Given the description of an element on the screen output the (x, y) to click on. 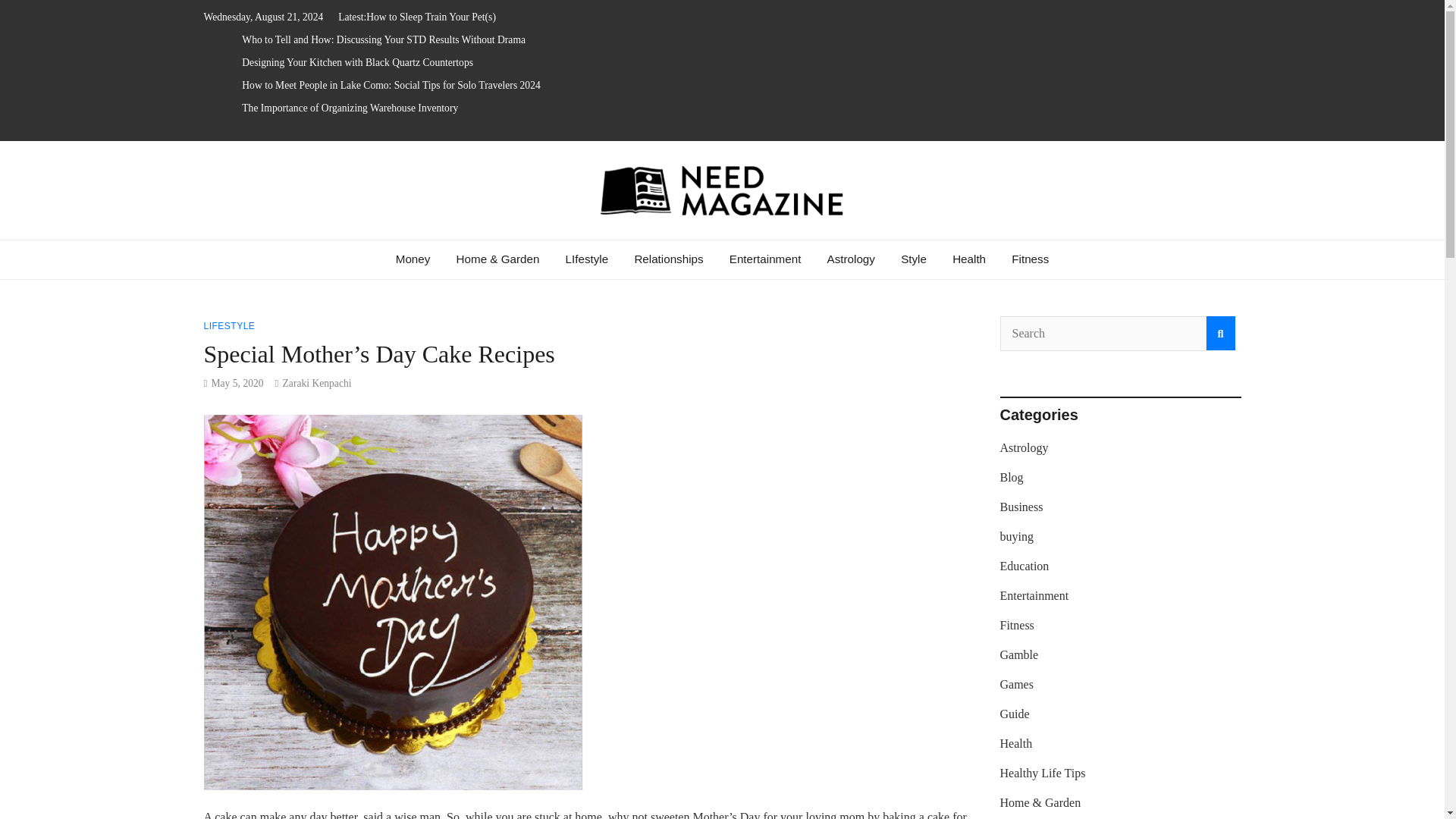
LIfestyle (587, 259)
May 5, 2020 (237, 383)
The Importance of Organizing Warehouse Inventory (349, 107)
Entertainment (764, 259)
LIFESTYLE (228, 325)
Astrology (850, 259)
Fitness (1029, 259)
Need Magazine (334, 246)
Health (968, 259)
